Given the description of an element on the screen output the (x, y) to click on. 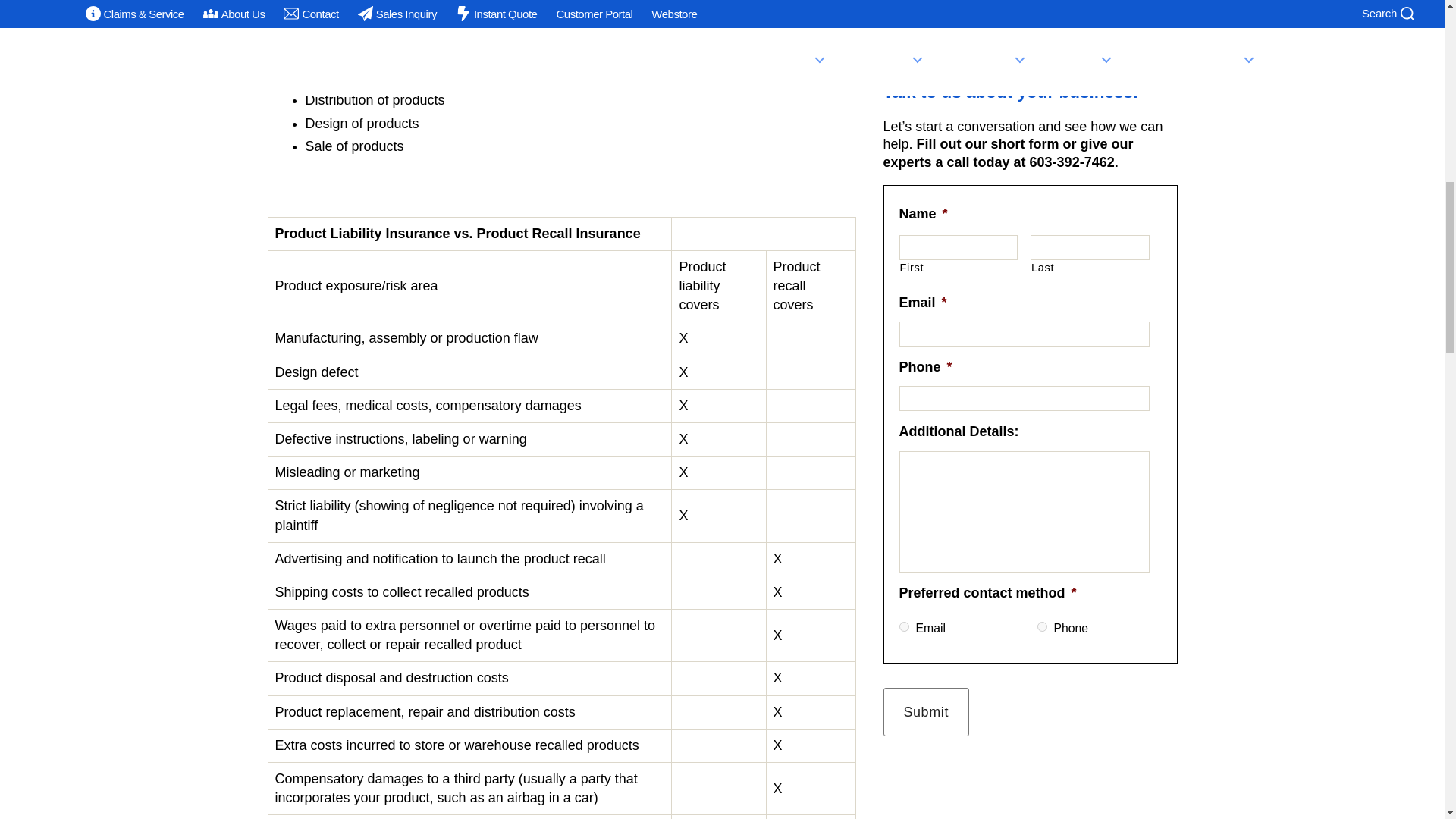
Email (903, 626)
Phone (1041, 626)
Submit (925, 711)
